Given the description of an element on the screen output the (x, y) to click on. 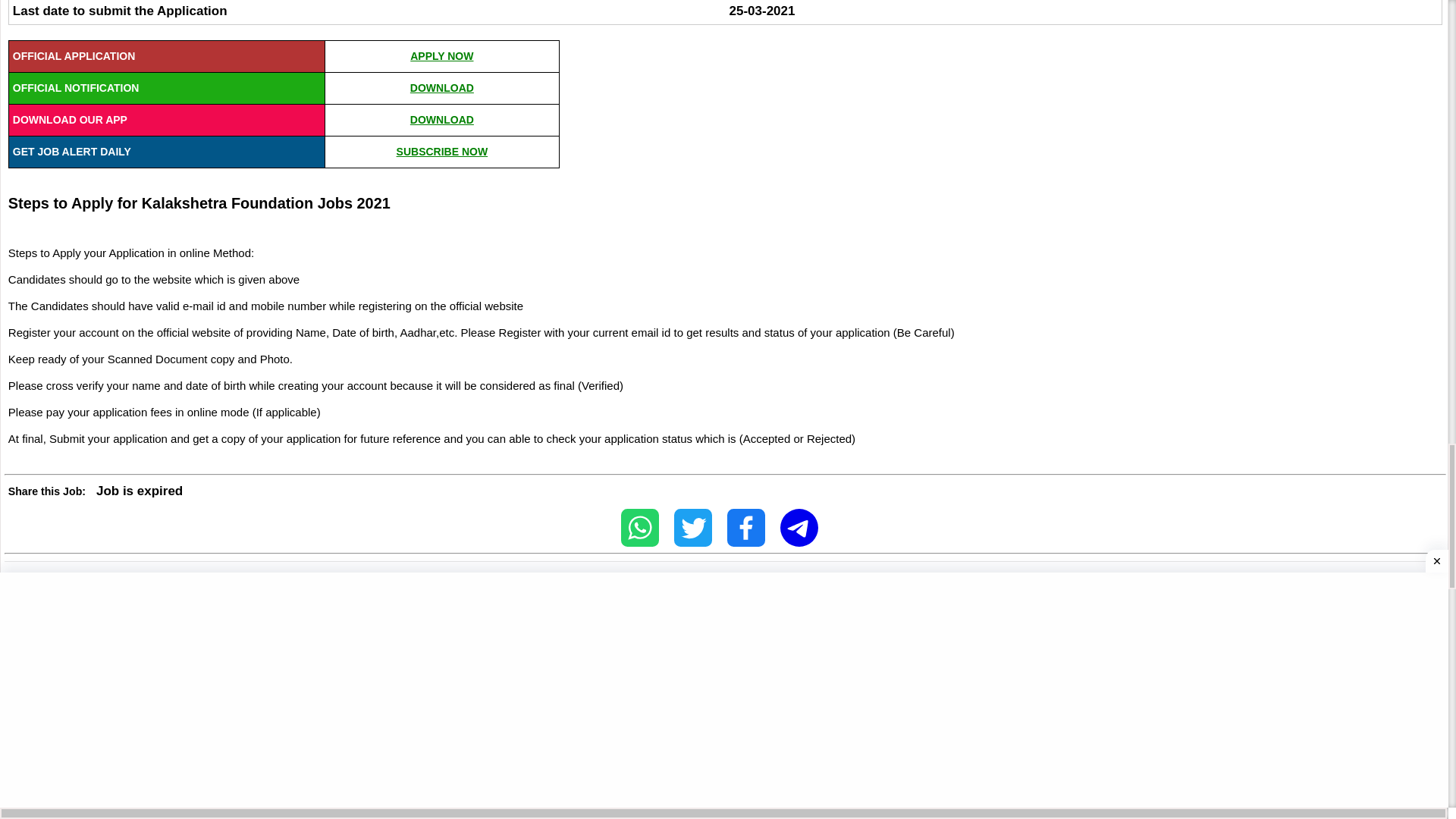
DOWNLOAD (442, 87)
APPLY NOW (441, 55)
DOWNLOAD (442, 119)
Recent Tamil Nadu Jobs (108, 608)
SUBSCRIBE NOW (441, 151)
